Given the description of an element on the screen output the (x, y) to click on. 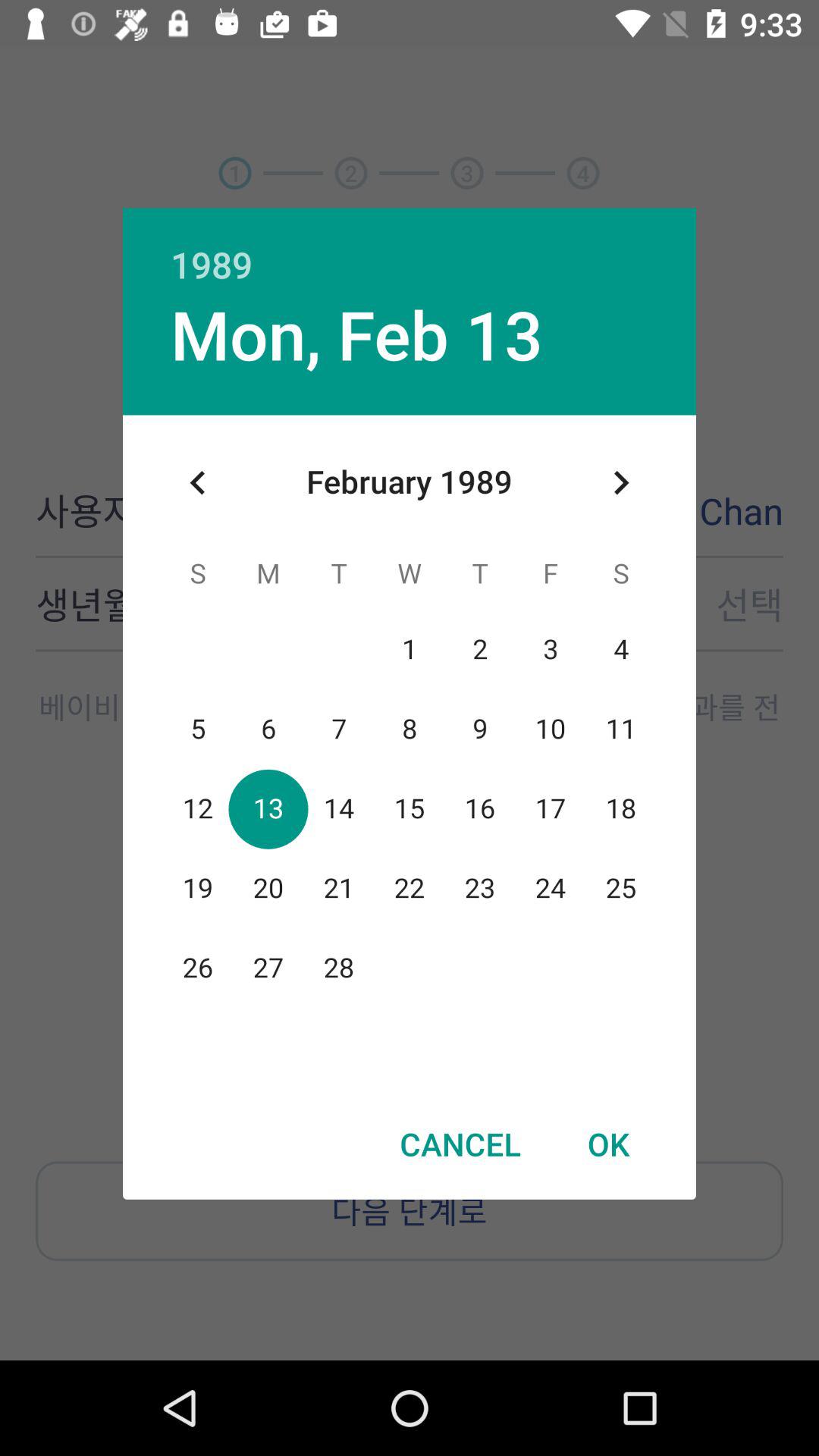
launch the item at the top left corner (197, 482)
